Given the description of an element on the screen output the (x, y) to click on. 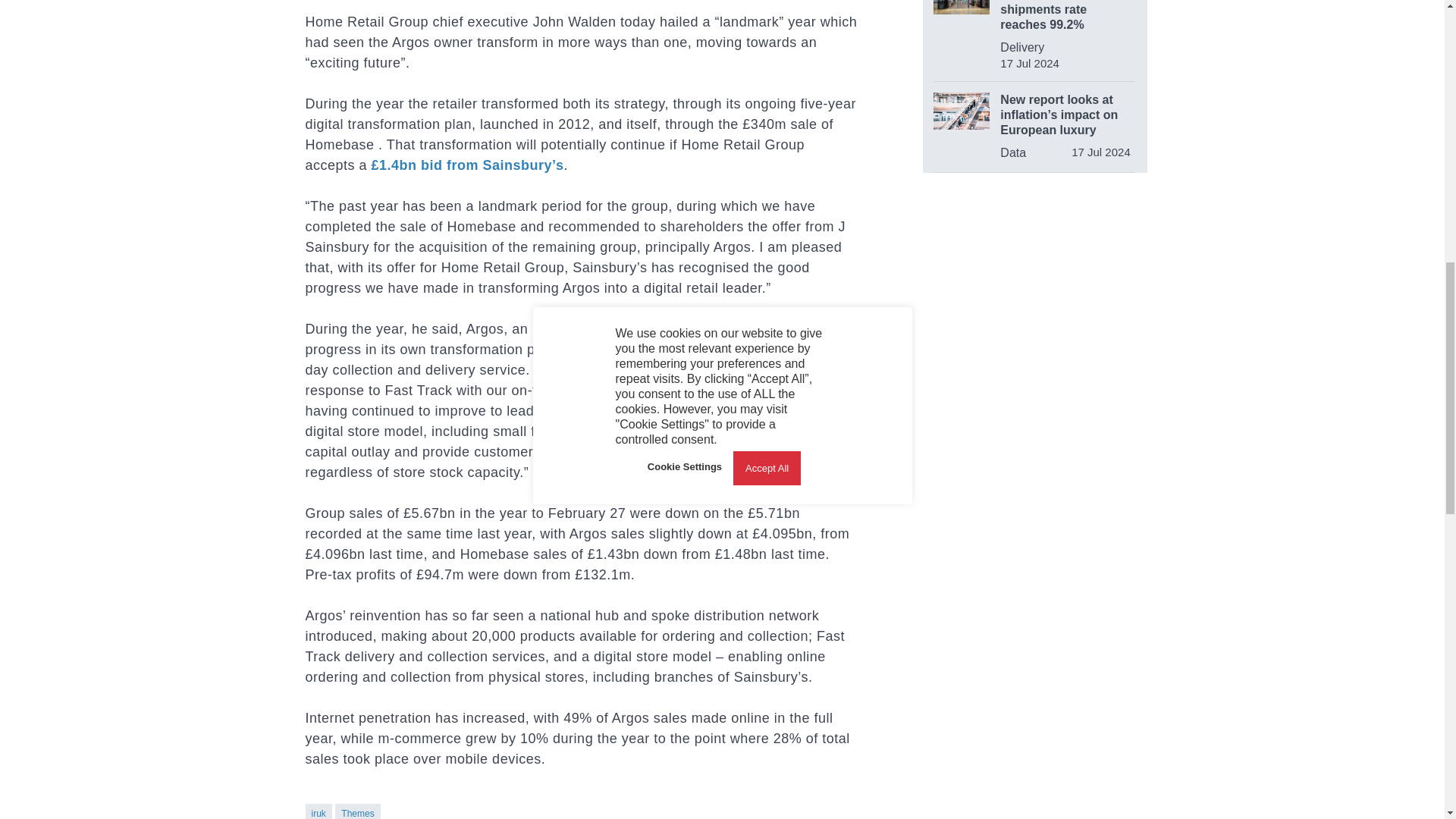
3rd party ad content (1034, 289)
3rd party ad content (1035, 502)
